Given the description of an element on the screen output the (x, y) to click on. 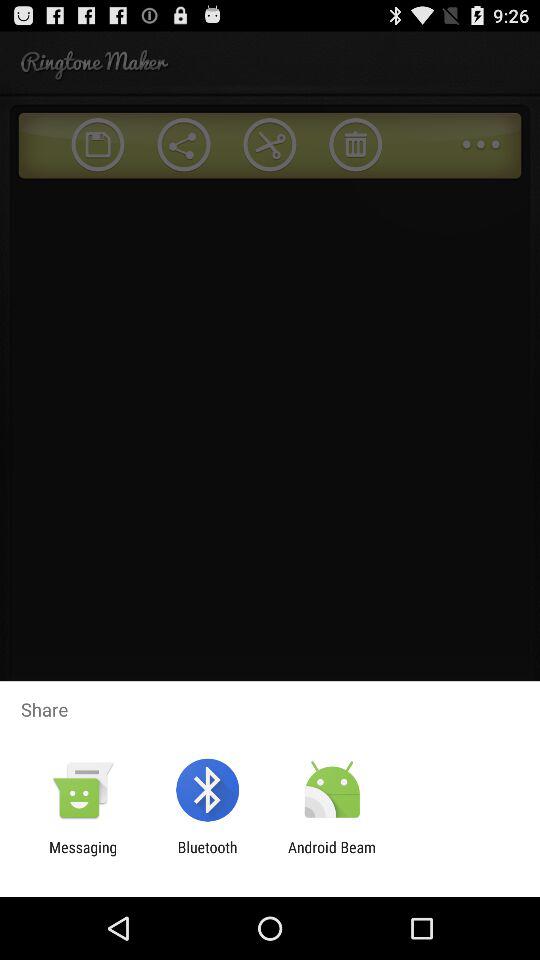
scroll until the android beam item (332, 856)
